Given the description of an element on the screen output the (x, y) to click on. 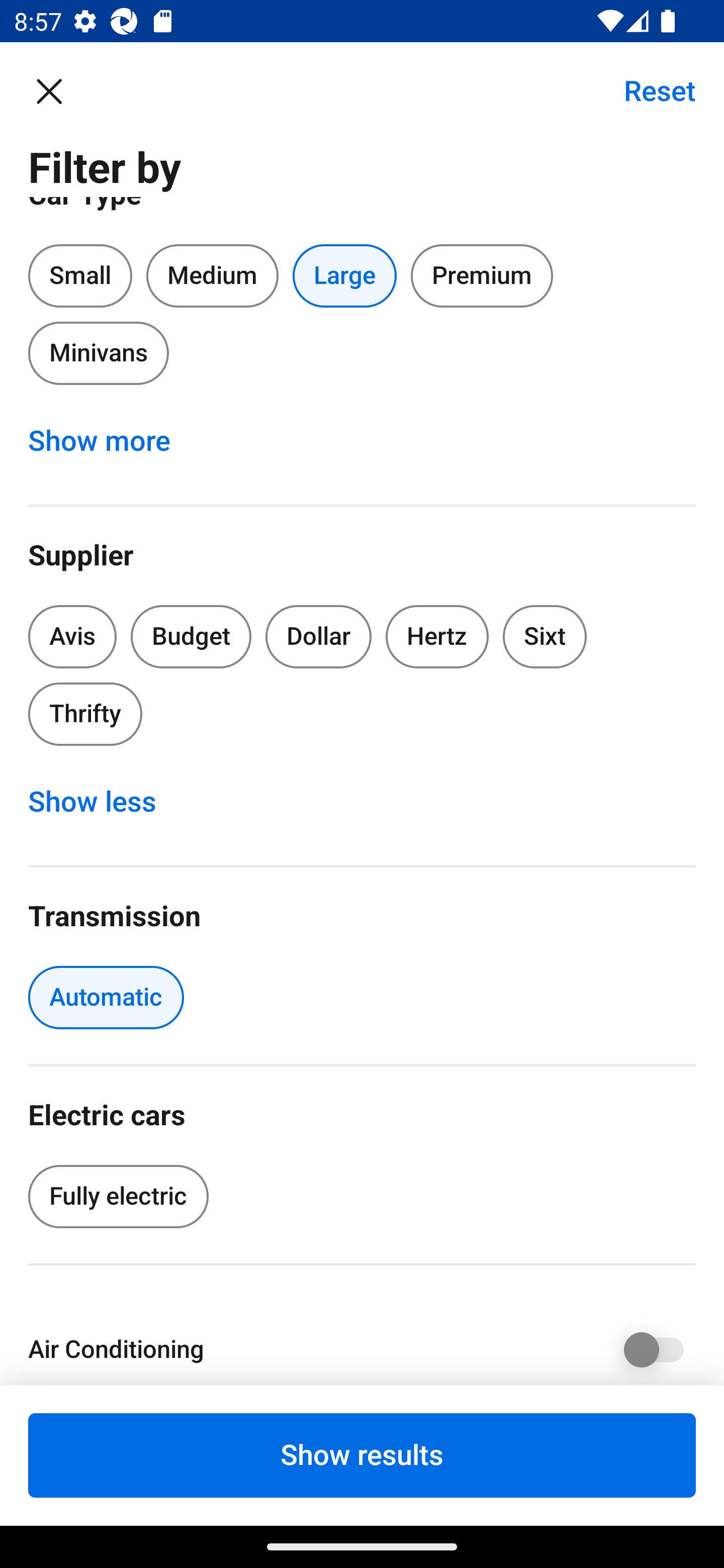
Close (59, 90)
Reset (649, 90)
Small (80, 275)
Medium (212, 275)
Premium (482, 275)
Minivans (98, 352)
Show more (109, 440)
Avis (72, 636)
Budget (191, 636)
Dollar (318, 636)
Hertz (437, 636)
Sixt (544, 636)
Thrifty (85, 713)
Show less (102, 801)
Fully electric (118, 1196)
Air Conditioning (361, 1345)
Show results (361, 1454)
